Given the description of an element on the screen output the (x, y) to click on. 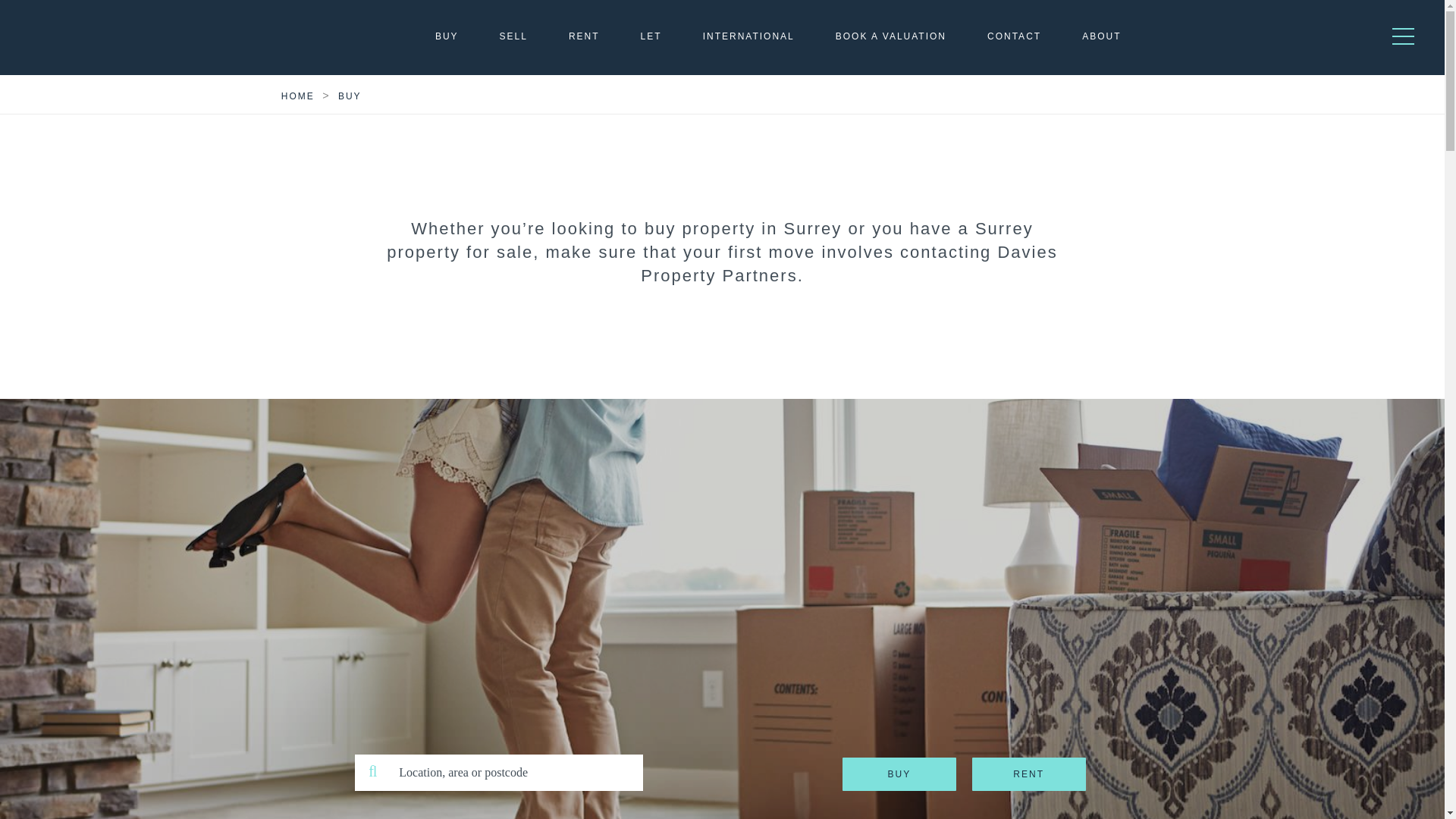
CONTACT (1014, 36)
Rent (1029, 774)
RENT (584, 36)
INTERNATIONAL (748, 36)
BUY (446, 36)
LET (651, 36)
ABOUT (1101, 36)
SELL (513, 36)
BOOK A VALUATION (890, 36)
Davies Property Partners (106, 37)
